Given the description of an element on the screen output the (x, y) to click on. 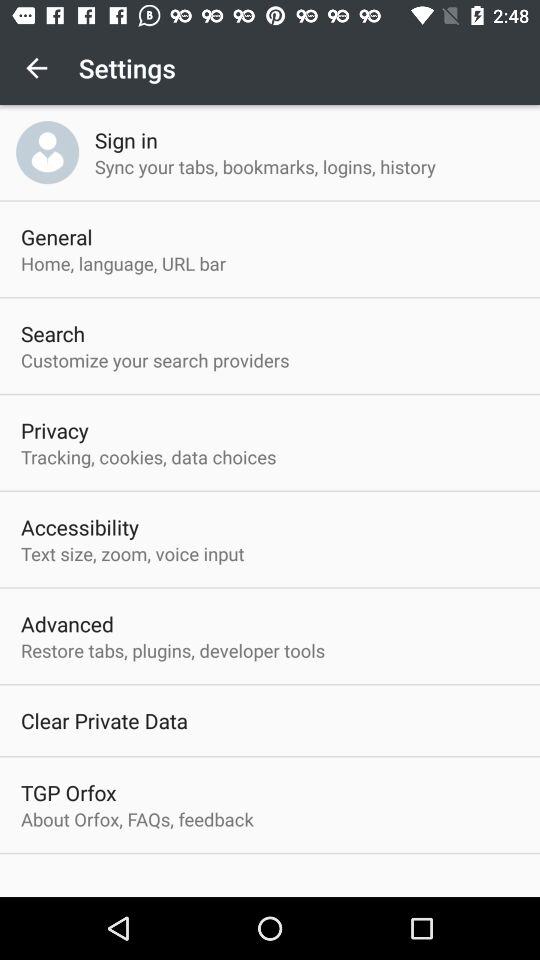
swipe until the accessibility (80, 527)
